Given the description of an element on the screen output the (x, y) to click on. 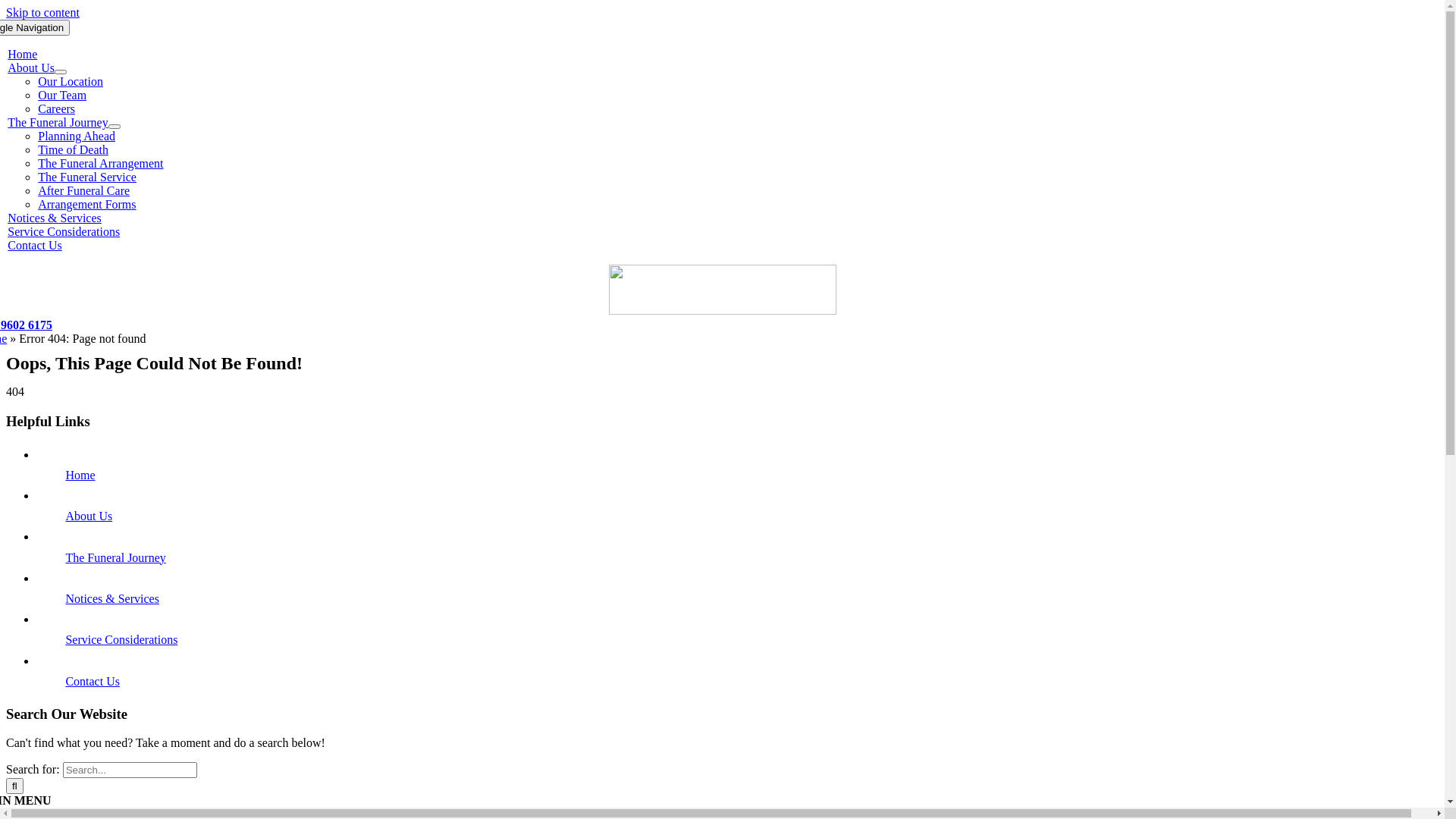
Service Considerations Element type: text (121, 639)
Contact Us Element type: text (34, 244)
Home Element type: text (22, 53)
About Us Element type: text (30, 67)
The Funeral Service Element type: text (86, 176)
Home Element type: text (79, 474)
Skip to content Element type: text (42, 12)
About Us Element type: text (88, 515)
Time of Death Element type: text (72, 149)
The Funeral Journey Element type: text (115, 557)
After Funeral Care Element type: text (83, 190)
Planning Ahead Element type: text (76, 135)
The Funeral Arrangement Element type: text (100, 162)
Our Team Element type: text (61, 94)
Notices & Services Element type: text (112, 598)
Notices & Services Element type: text (54, 217)
Contact Us Element type: text (92, 680)
Our Location Element type: text (70, 81)
The Funeral Journey Element type: text (57, 122)
Careers Element type: text (56, 108)
Arrangement Forms Element type: text (86, 203)
Service Considerations Element type: text (63, 231)
